Given the description of an element on the screen output the (x, y) to click on. 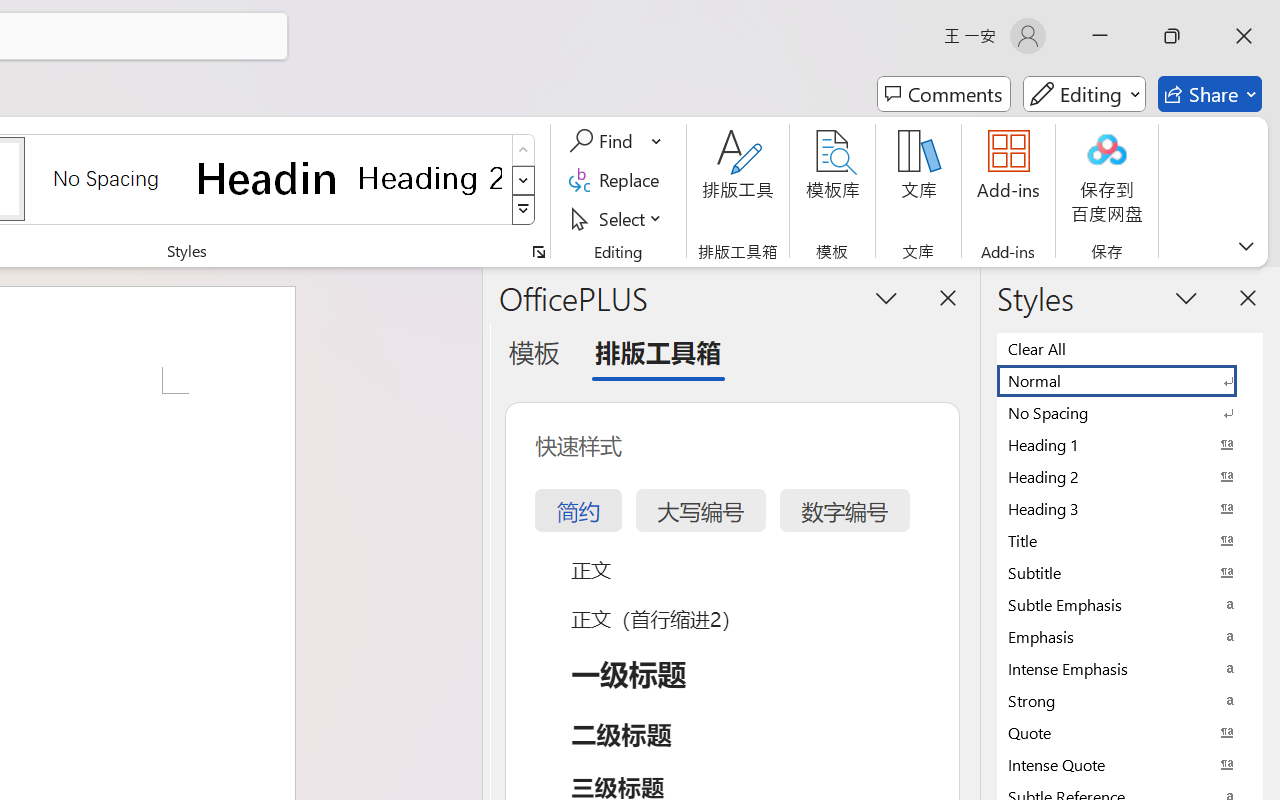
Heading 1 (267, 178)
Class: NetUIImage (523, 210)
Minimize (1099, 36)
Replace... (617, 179)
Quote (1130, 732)
Select (618, 218)
Close (1244, 36)
No Spacing (1130, 412)
Normal (1130, 380)
Styles... (538, 252)
Mode (1083, 94)
